Given the description of an element on the screen output the (x, y) to click on. 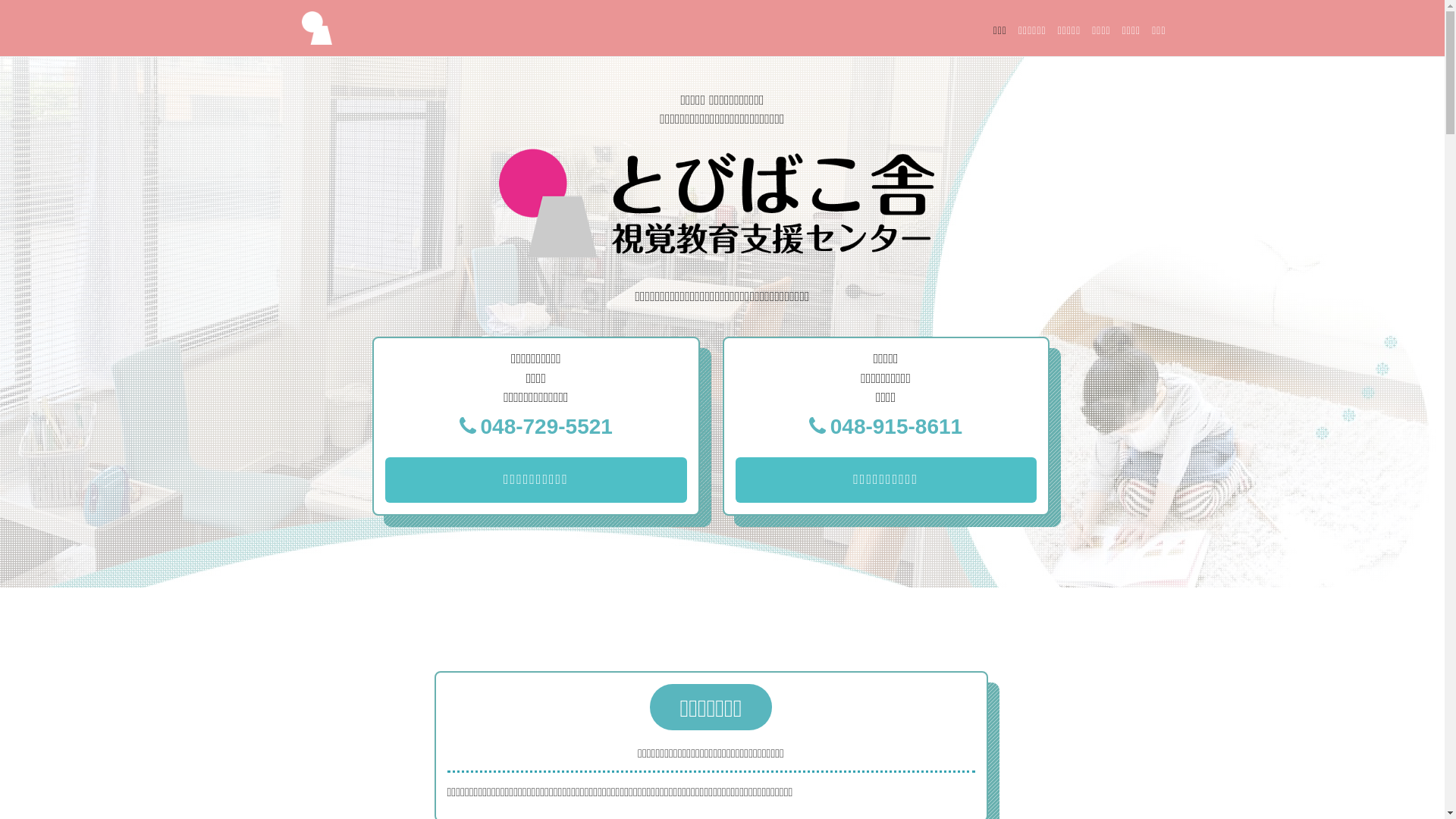
048-915-8611 Element type: text (885, 426)
048-729-5521 Element type: text (535, 426)
